Given the description of an element on the screen output the (x, y) to click on. 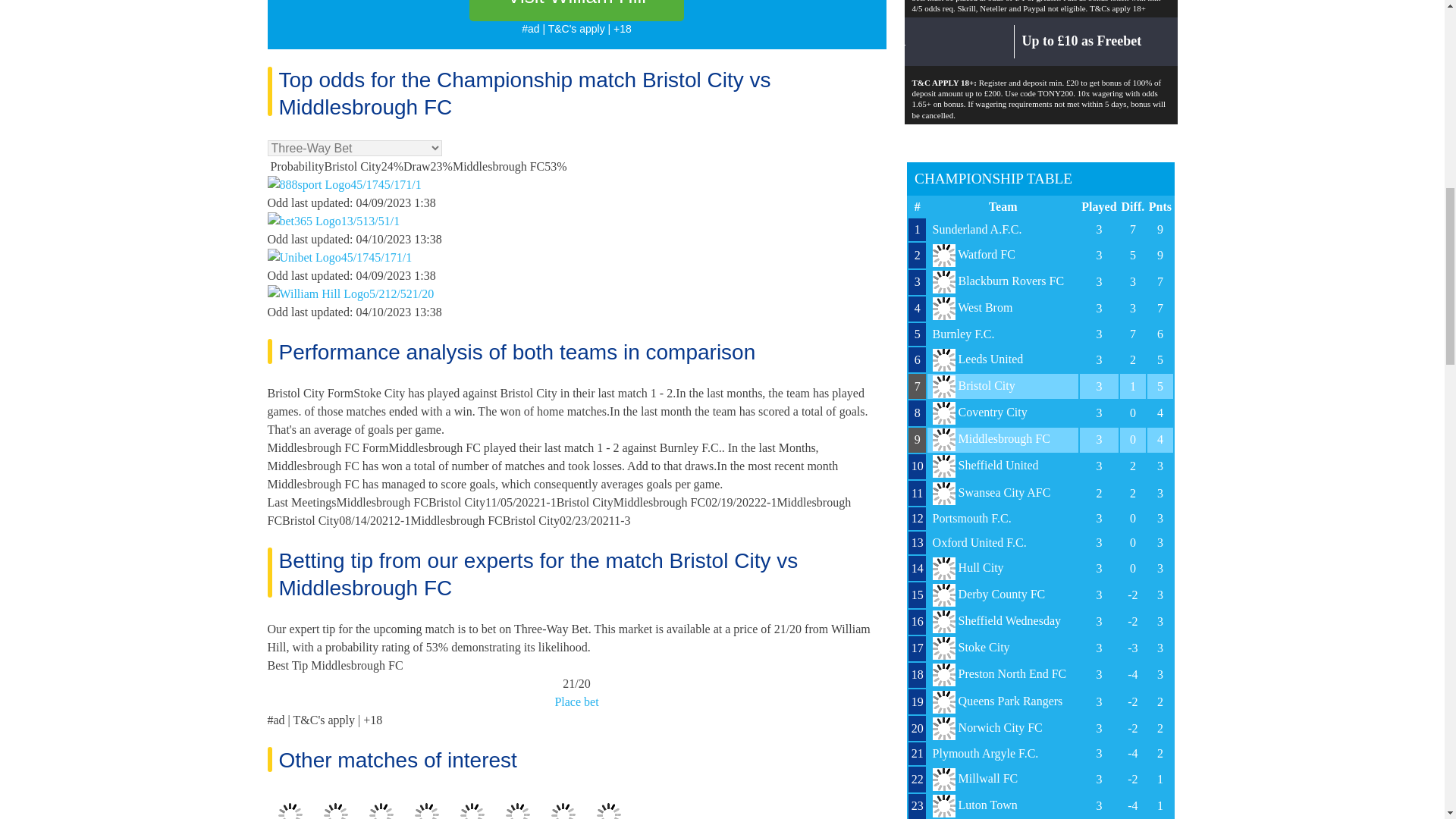
Luton Town - Queens Park Rangers (472, 807)
Leeds United - Hull City (381, 807)
Sheffield United - Watford FC (336, 807)
Visit William Hill (576, 10)
Derby County FC - Bristol City (426, 807)
Coventry City - Norwich City FC (608, 807)
West Brom - Swansea City AFC (563, 807)
Millwall FC - Sheffield Wednesday (518, 807)
Cardiff City FC - Middlesbrough FC (289, 807)
